Given the description of an element on the screen output the (x, y) to click on. 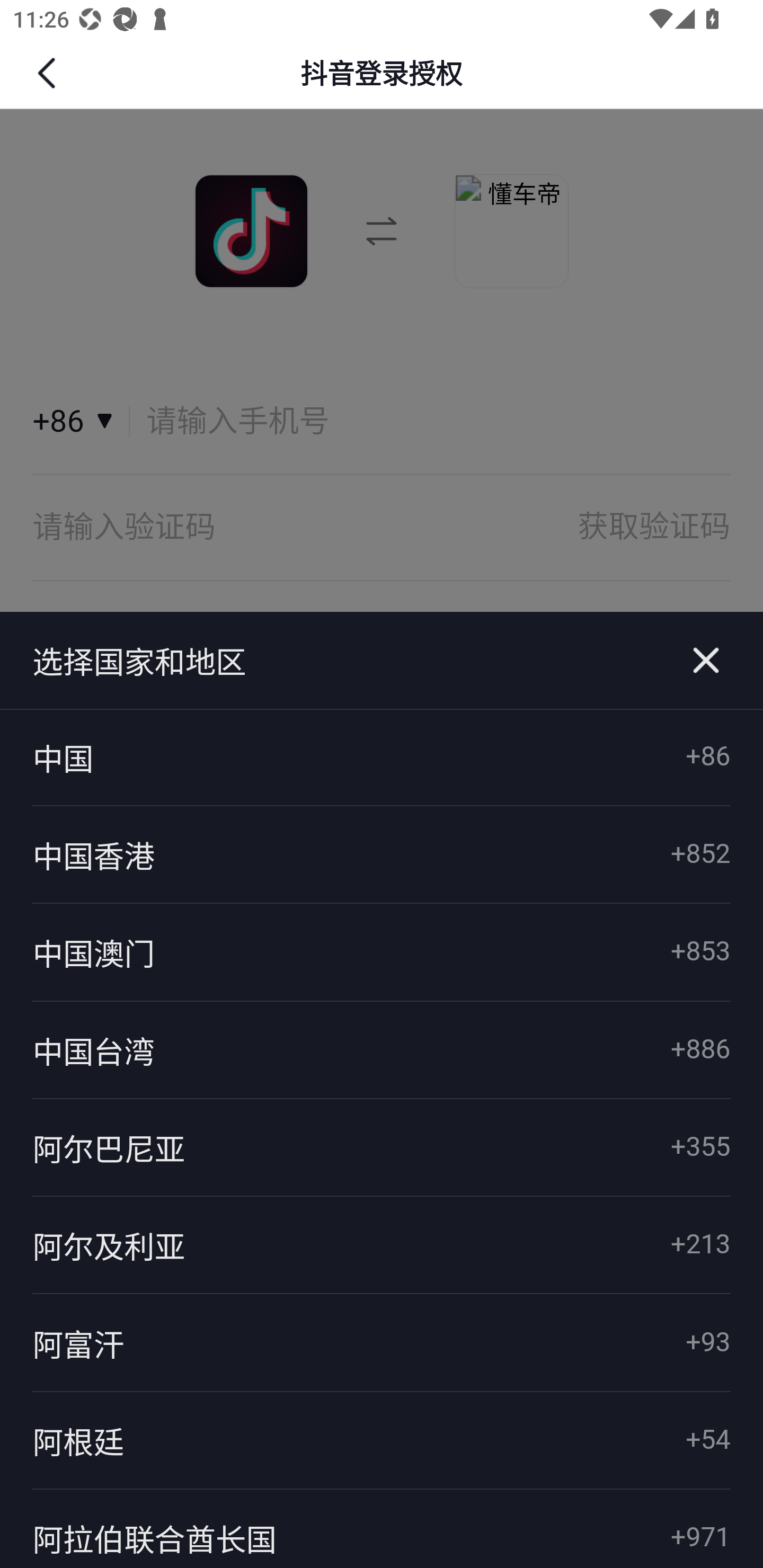
返回 (49, 72)
一键授权 (381, 658)
关闭 (705, 660)
中国+86 (381, 757)
中国香港+852 (381, 854)
中国澳门+853 (381, 952)
中国台湾+886 (381, 1049)
阿尔巴尼亚+355 (381, 1147)
阿尔及利亚+213 (381, 1245)
阿富汗+93 (381, 1343)
阿根廷+54 (381, 1440)
阿拉伯联合酋长国+971 (381, 1528)
